Given the description of an element on the screen output the (x, y) to click on. 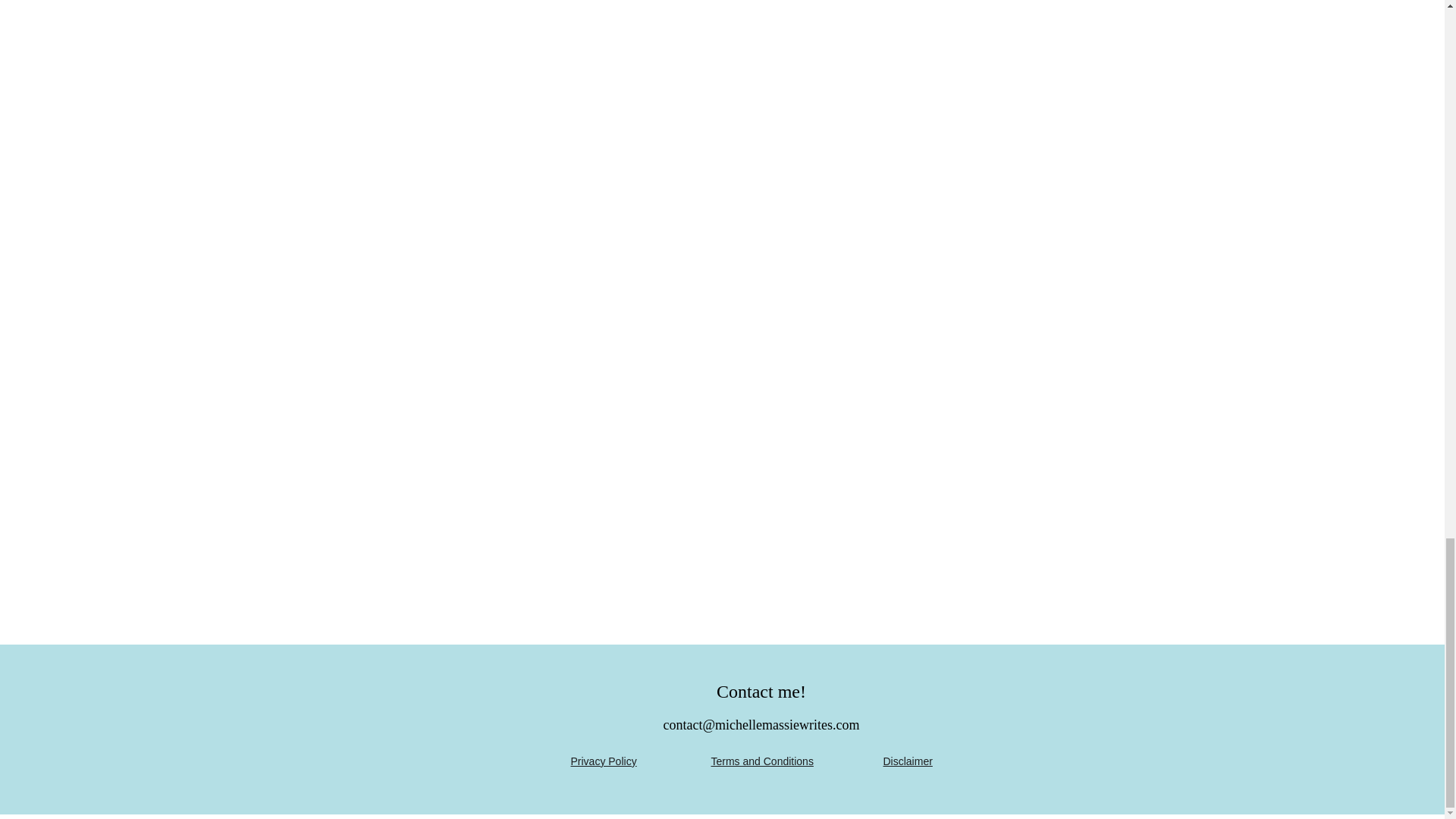
Disclaimer (906, 761)
Terms and Conditions (762, 761)
Privacy Policy (603, 761)
